Given the description of an element on the screen output the (x, y) to click on. 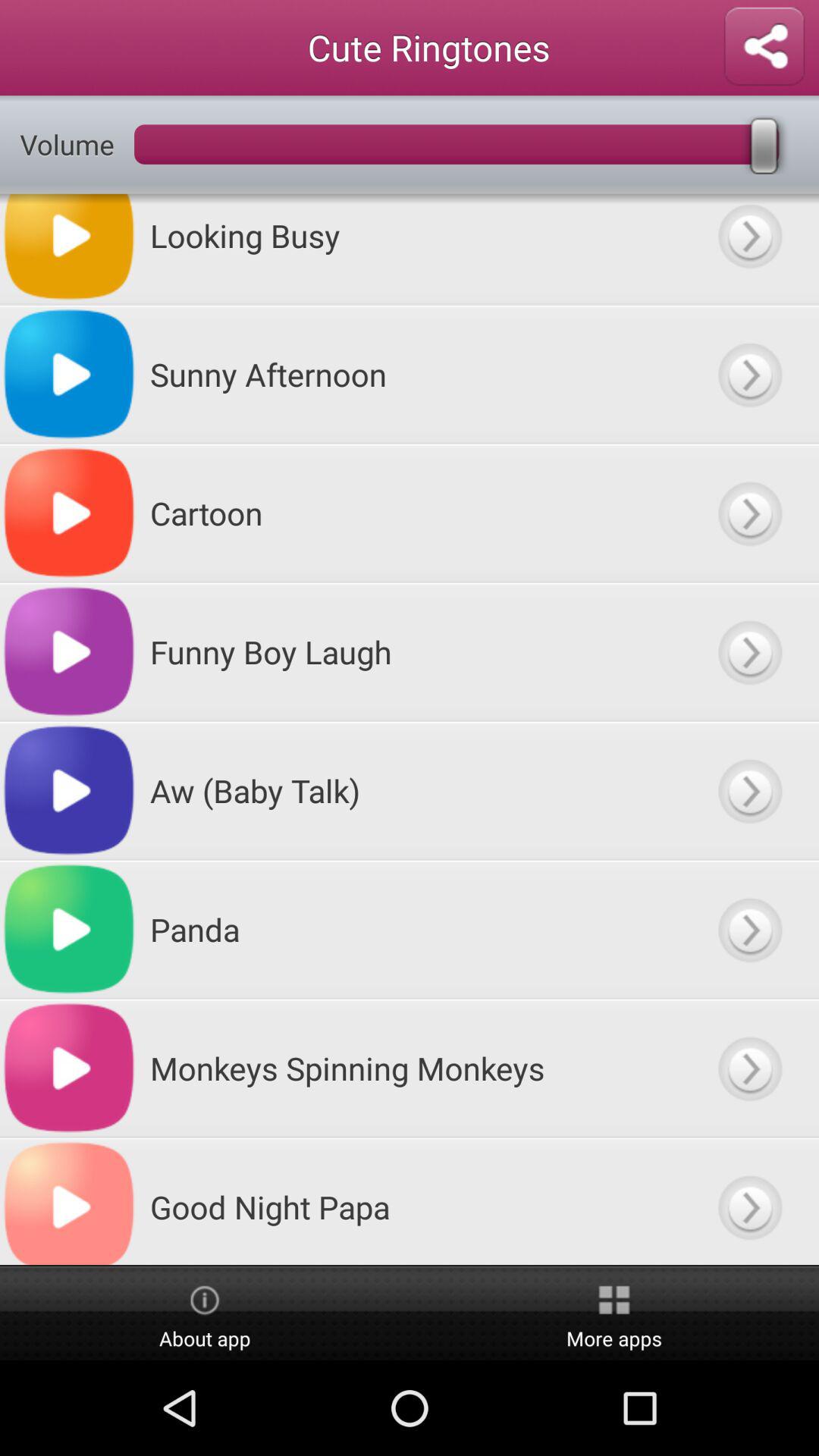
go to left (749, 651)
